Given the description of an element on the screen output the (x, y) to click on. 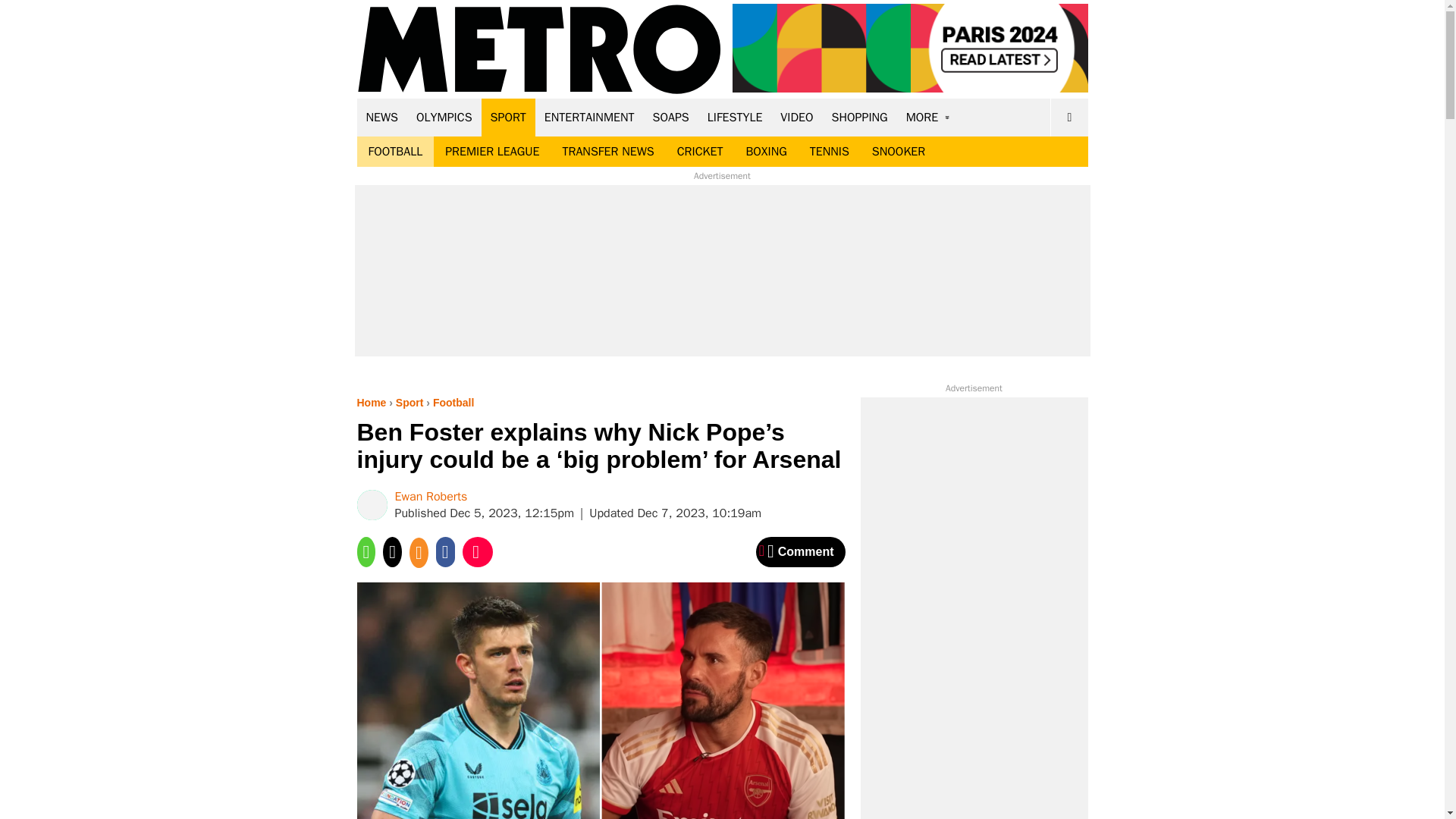
TRANSFER NEWS (607, 151)
SPORT (508, 117)
PREMIER LEAGUE (491, 151)
Metro (539, 50)
NEWS (381, 117)
LIFESTYLE (734, 117)
SOAPS (670, 117)
CRICKET (700, 151)
BOXING (765, 151)
SNOOKER (898, 151)
